Given the description of an element on the screen output the (x, y) to click on. 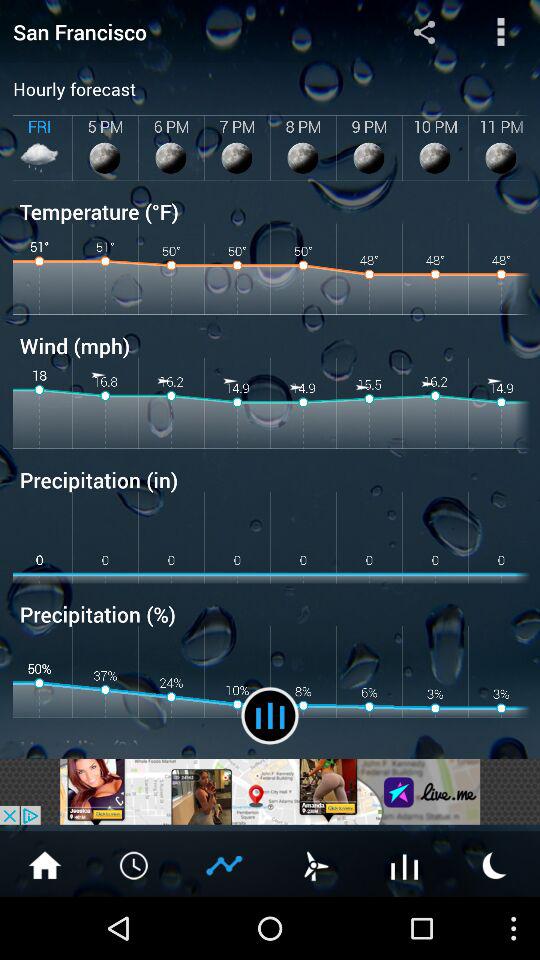
select the icon above the hourly forecast (424, 31)
